Given the description of an element on the screen output the (x, y) to click on. 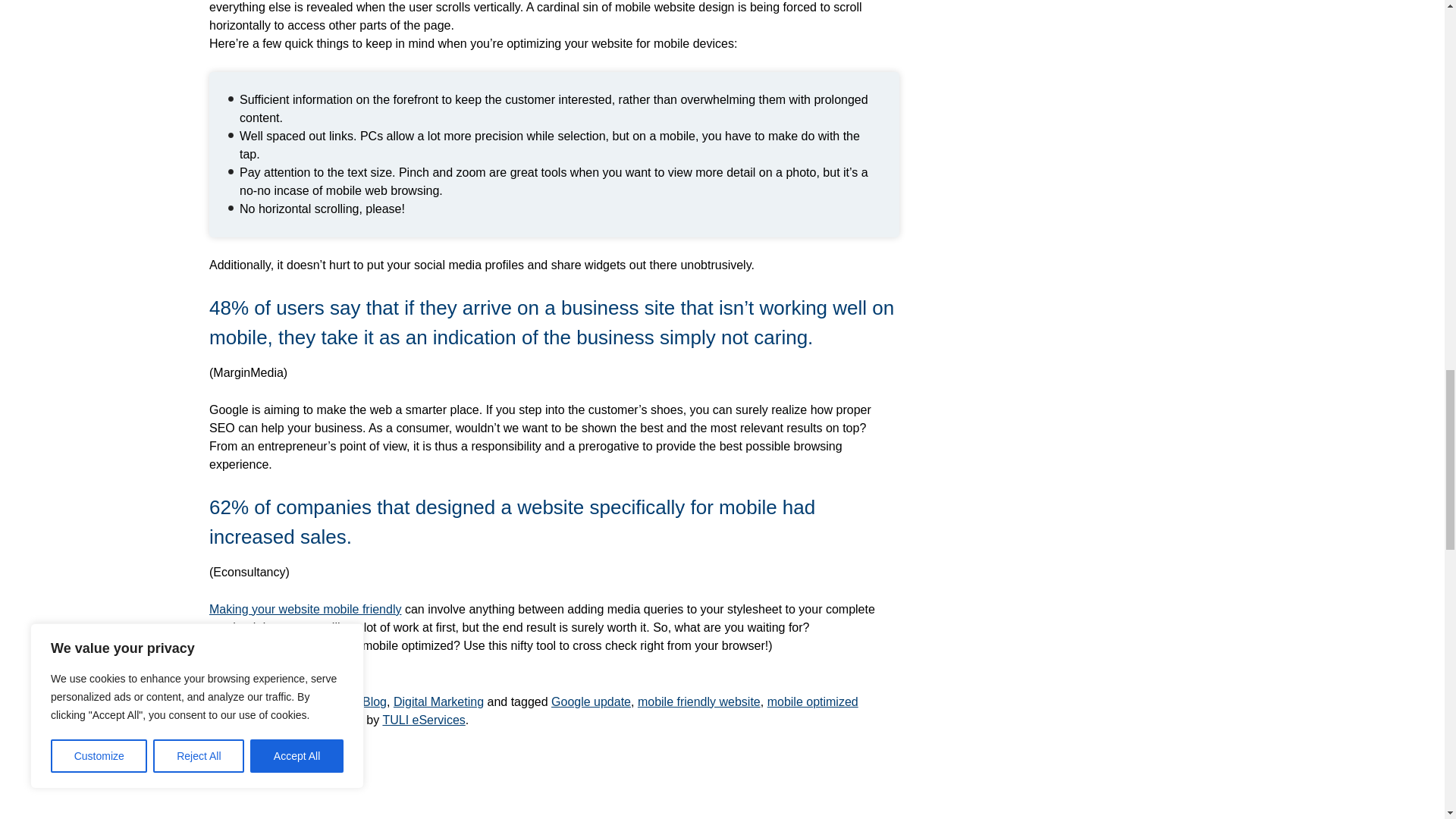
View all posts by TULI eServices (422, 719)
12:01 pm (325, 719)
